Given the description of an element on the screen output the (x, y) to click on. 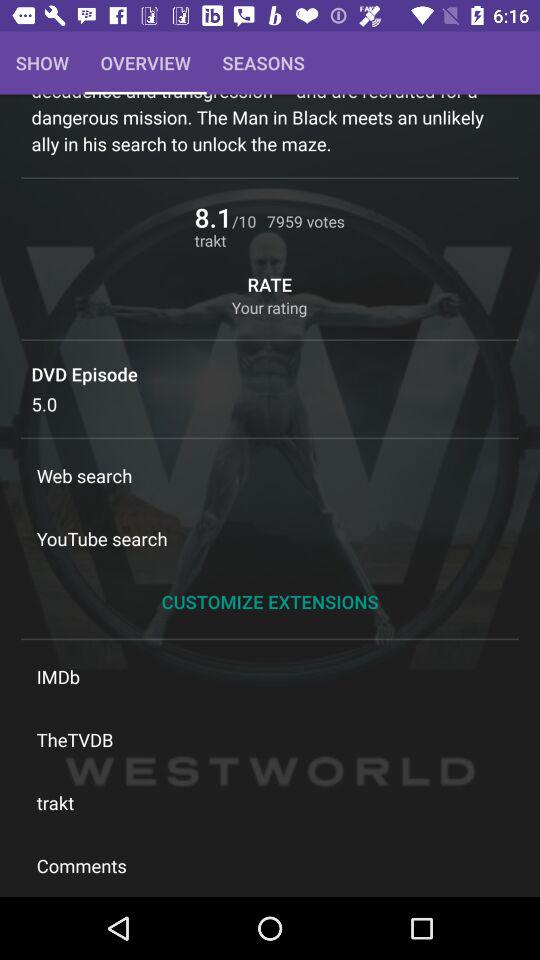
turn off the comments (270, 865)
